Given the description of an element on the screen output the (x, y) to click on. 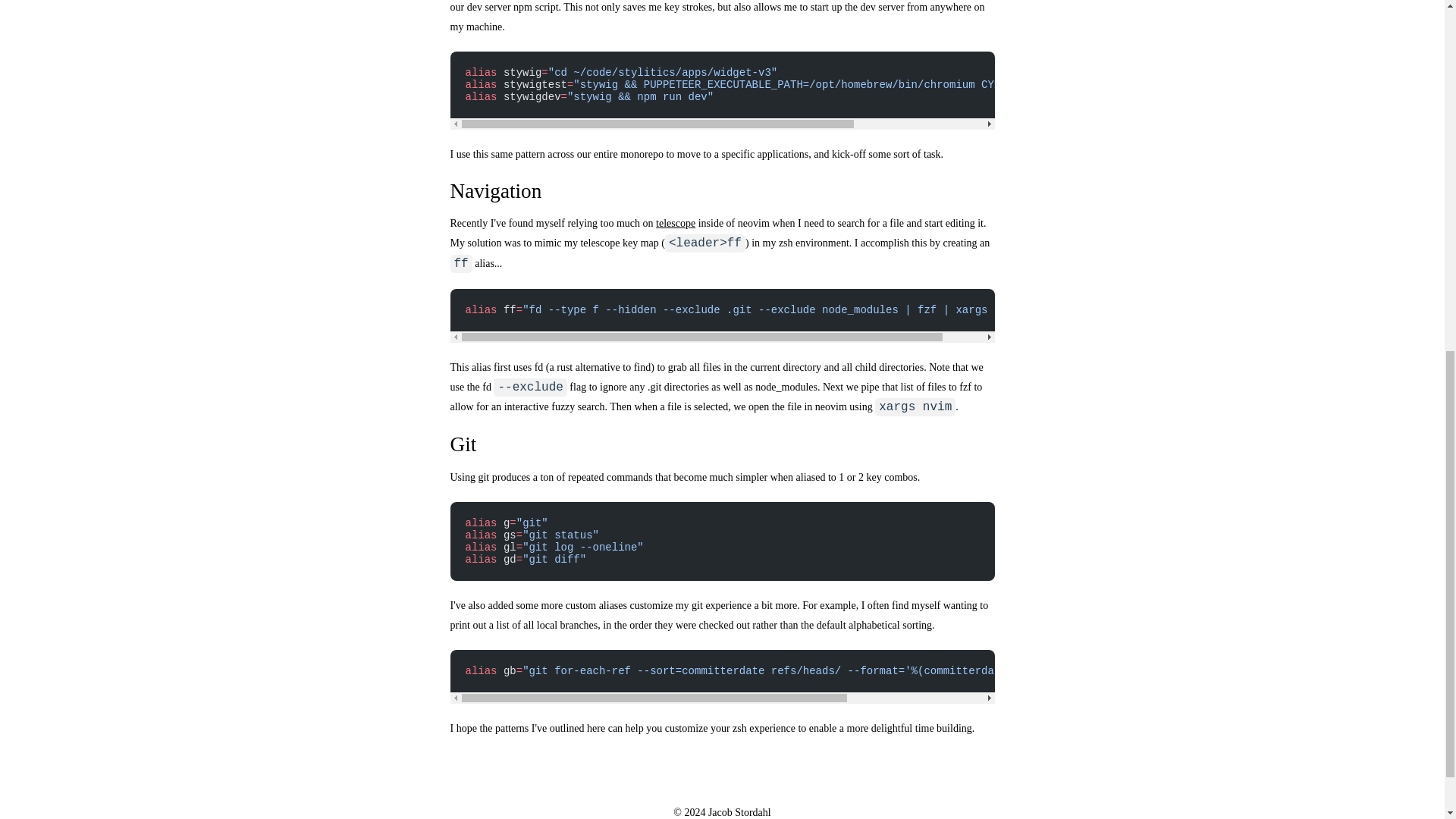
telescope (675, 223)
